Given the description of an element on the screen output the (x, y) to click on. 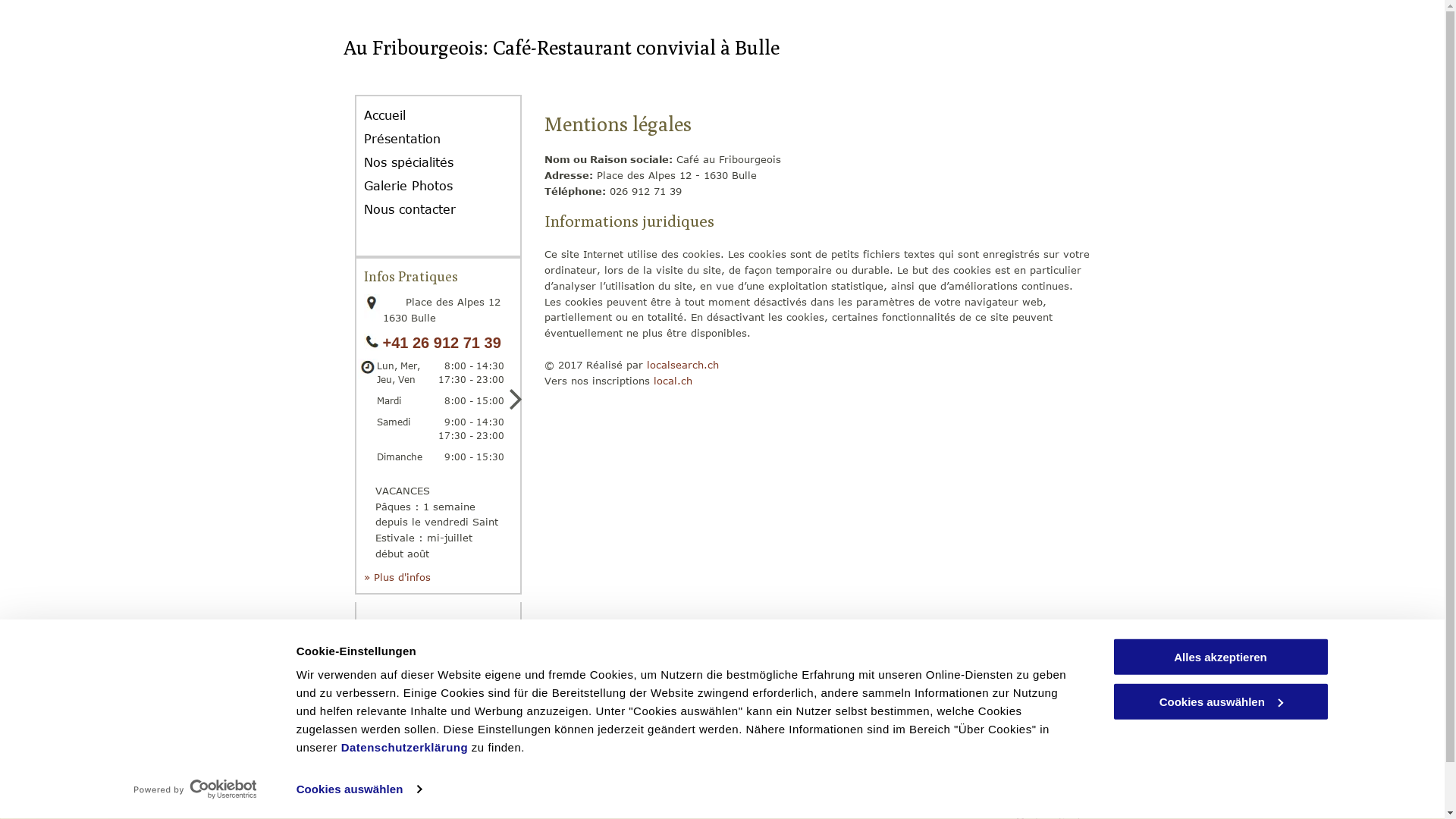
+41 26 912 71 39 Element type: text (441, 342)
Accueil Element type: text (396, 115)
Galerie Photos Element type: text (419, 185)
+41 26 912 71 39 Element type: text (709, 758)
local.ch Element type: text (672, 380)
localsearch.ch Element type: text (682, 364)
Alles akzeptieren Element type: text (1219, 656)
Nous contacter Element type: text (421, 209)
